Given the description of an element on the screen output the (x, y) to click on. 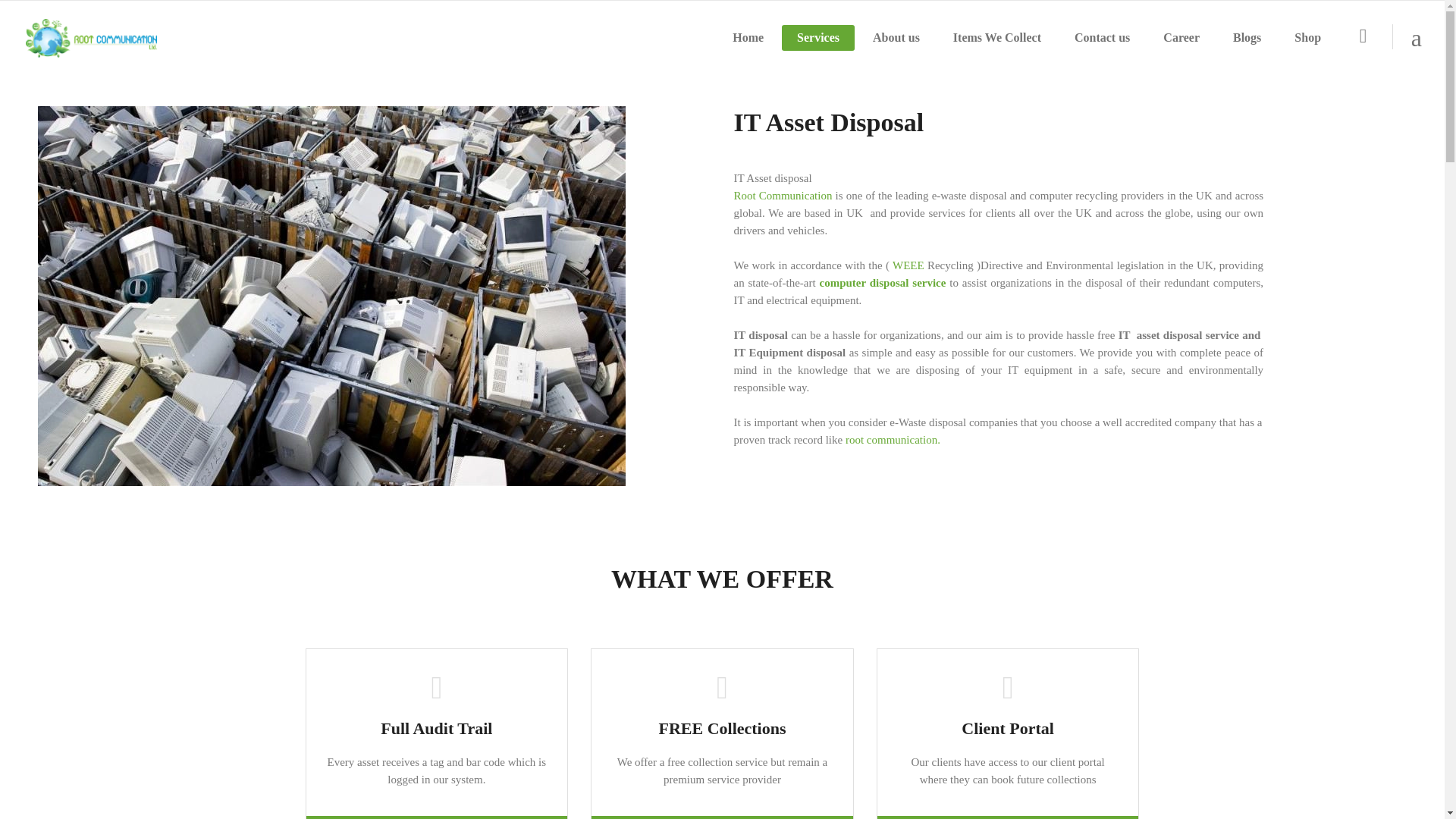
Contact us (1101, 38)
About us (895, 38)
Items We Collect (997, 38)
Services (817, 38)
